Given the description of an element on the screen output the (x, y) to click on. 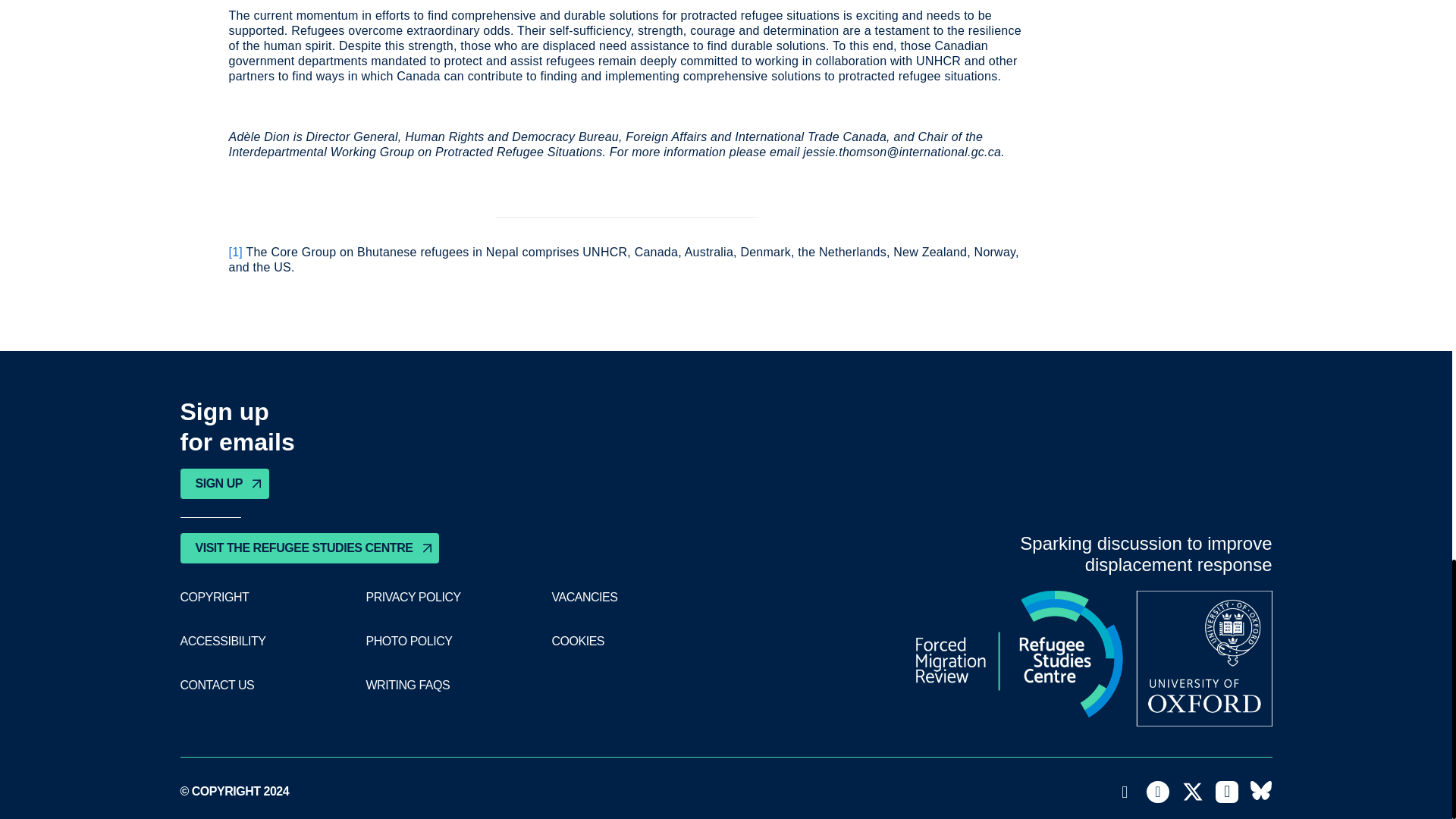
CONTACT US (217, 685)
Facebook (1158, 792)
Email (1124, 791)
VISIT THE REFUGEE STUDIES CENTRE (309, 548)
VK (1260, 792)
VACANCIES (584, 597)
PRIVACY POLICY (412, 597)
Twitter (1192, 792)
LinkedIn (1227, 792)
SIGN UP (224, 483)
